Given the description of an element on the screen output the (x, y) to click on. 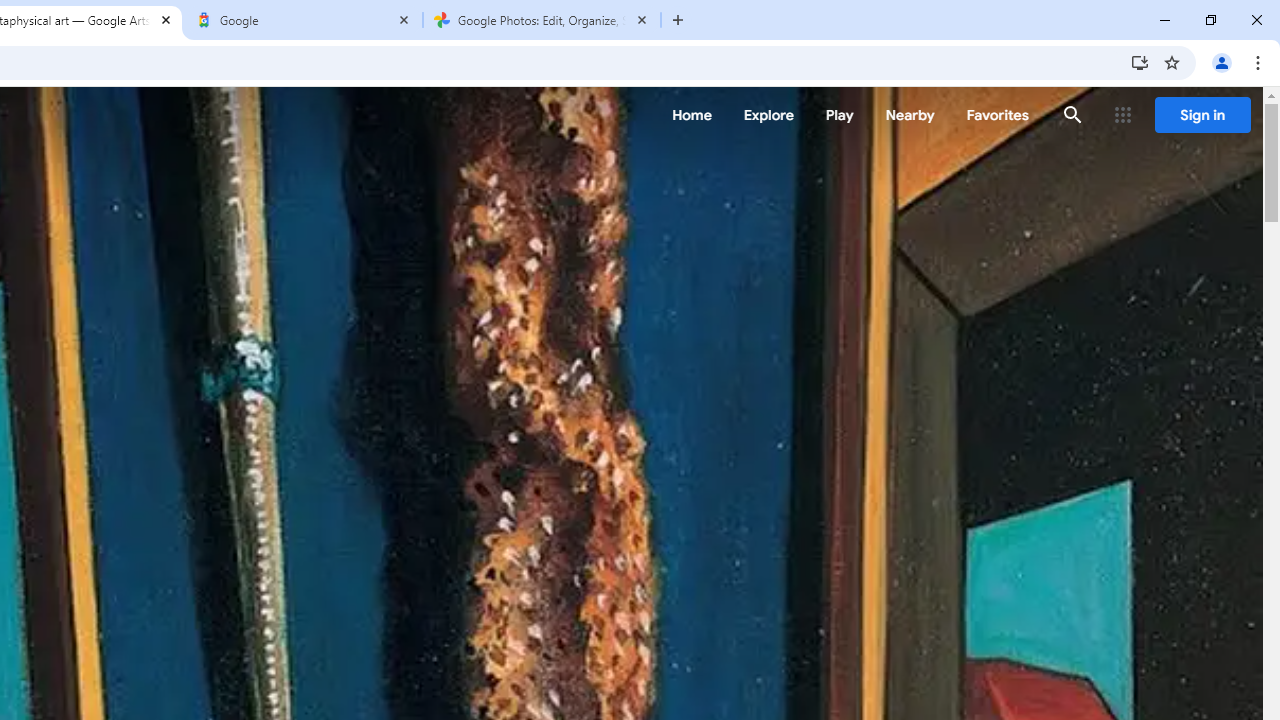
Nearby (910, 115)
Home (691, 115)
Explore (768, 115)
Install Google Arts & Culture (1139, 62)
